Given the description of an element on the screen output the (x, y) to click on. 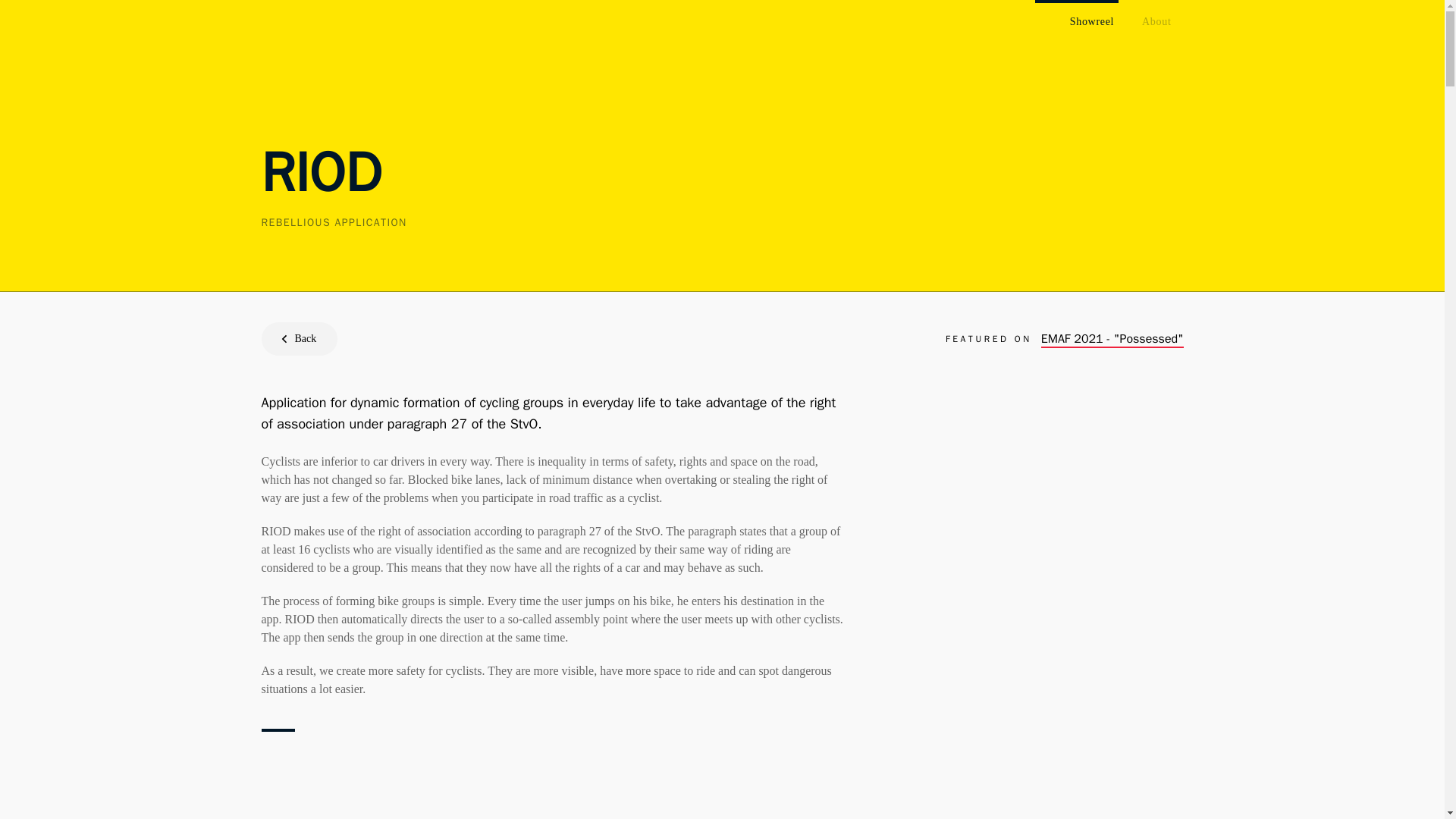
Back (298, 338)
EMAF 2021 - "Possessed" (1112, 339)
About (1156, 20)
Showreel (1091, 20)
Back to Homepage (278, 18)
